Given the description of an element on the screen output the (x, y) to click on. 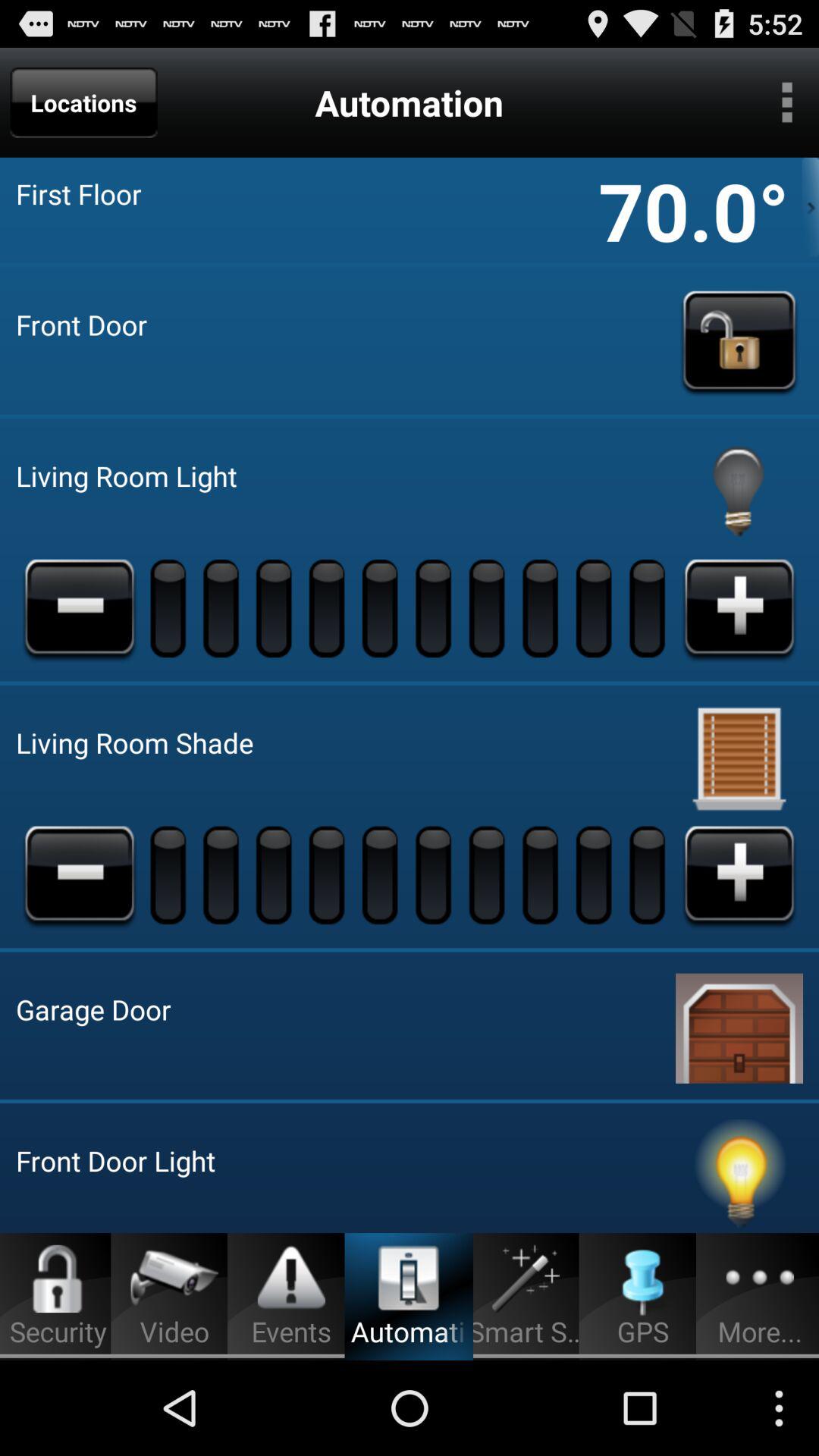
select garage door (739, 1025)
